Given the description of an element on the screen output the (x, y) to click on. 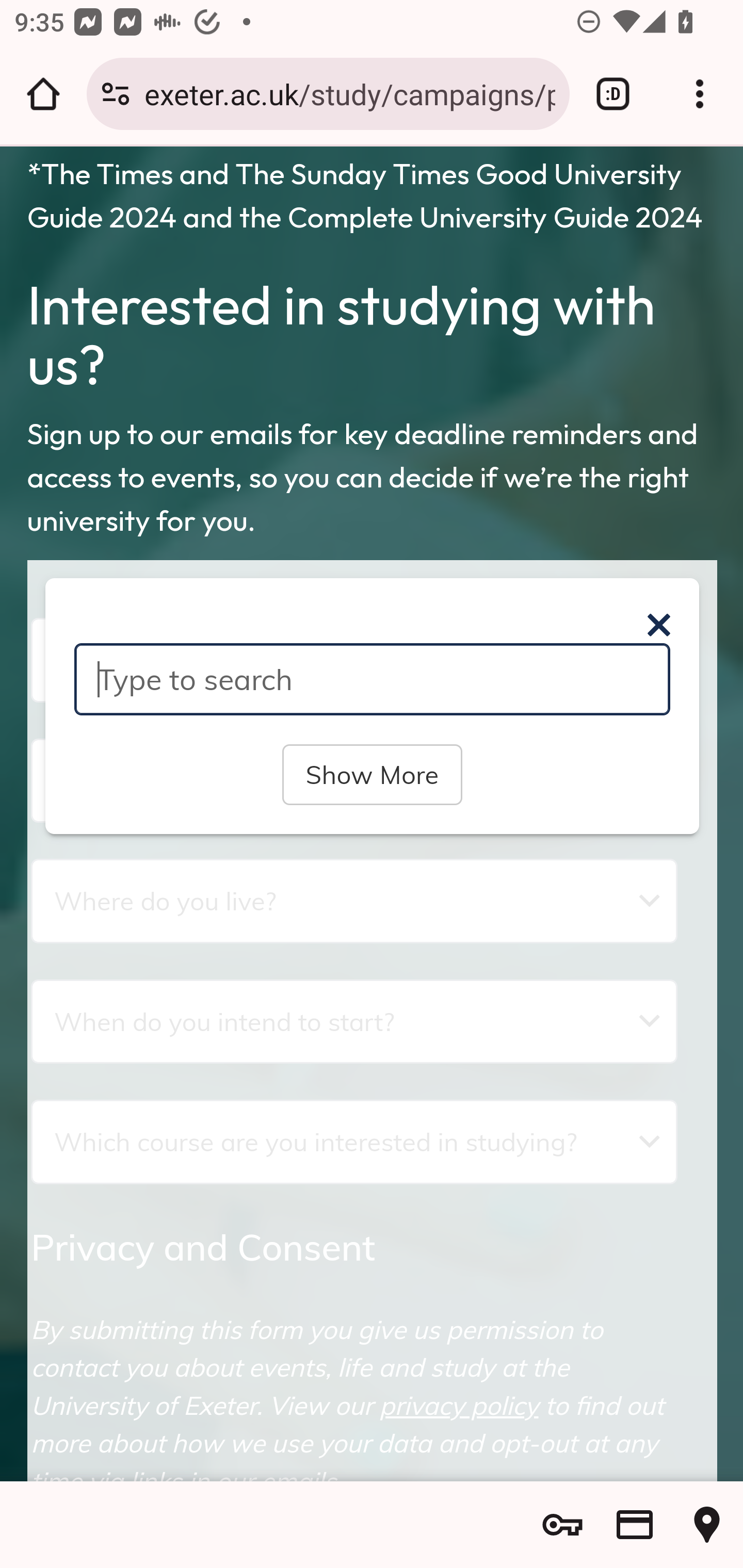
Open the home page (43, 93)
Connection is secure (115, 93)
Switch or close tabs (612, 93)
Customize and control Google Chrome (699, 93)
Close (658, 625)
Show More (371, 774)
Where do you live? (353, 900)
When do you intend to start? (353, 1021)
Which course are you interested in studying? (353, 1141)
Link privacy policy privacy policy (458, 1404)
Show saved passwords and password options (562, 1524)
Show saved payment methods (634, 1524)
Show saved addresses (706, 1524)
